Given the description of an element on the screen output the (x, y) to click on. 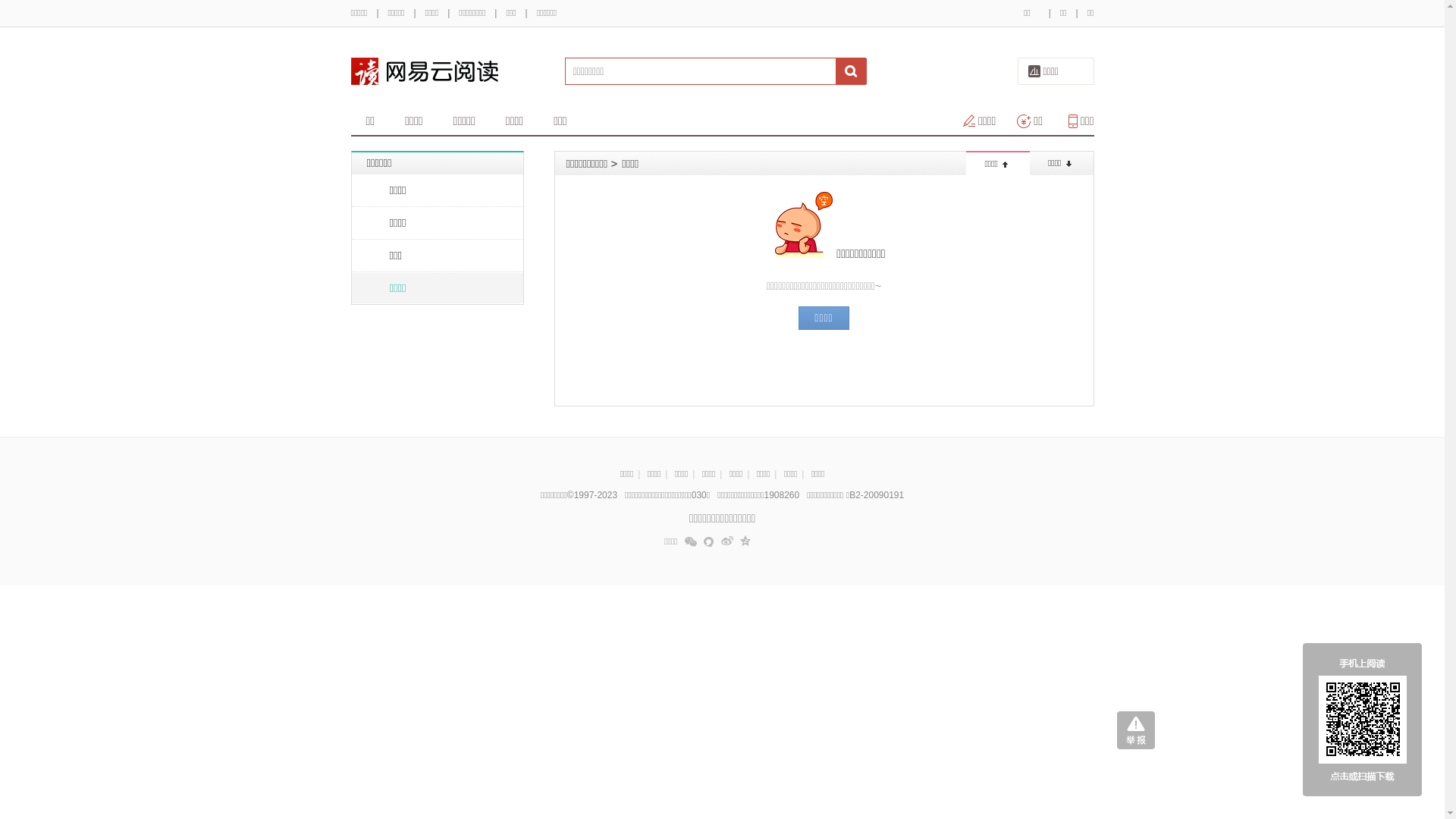
     Element type: text (851, 70)
